Given the description of an element on the screen output the (x, y) to click on. 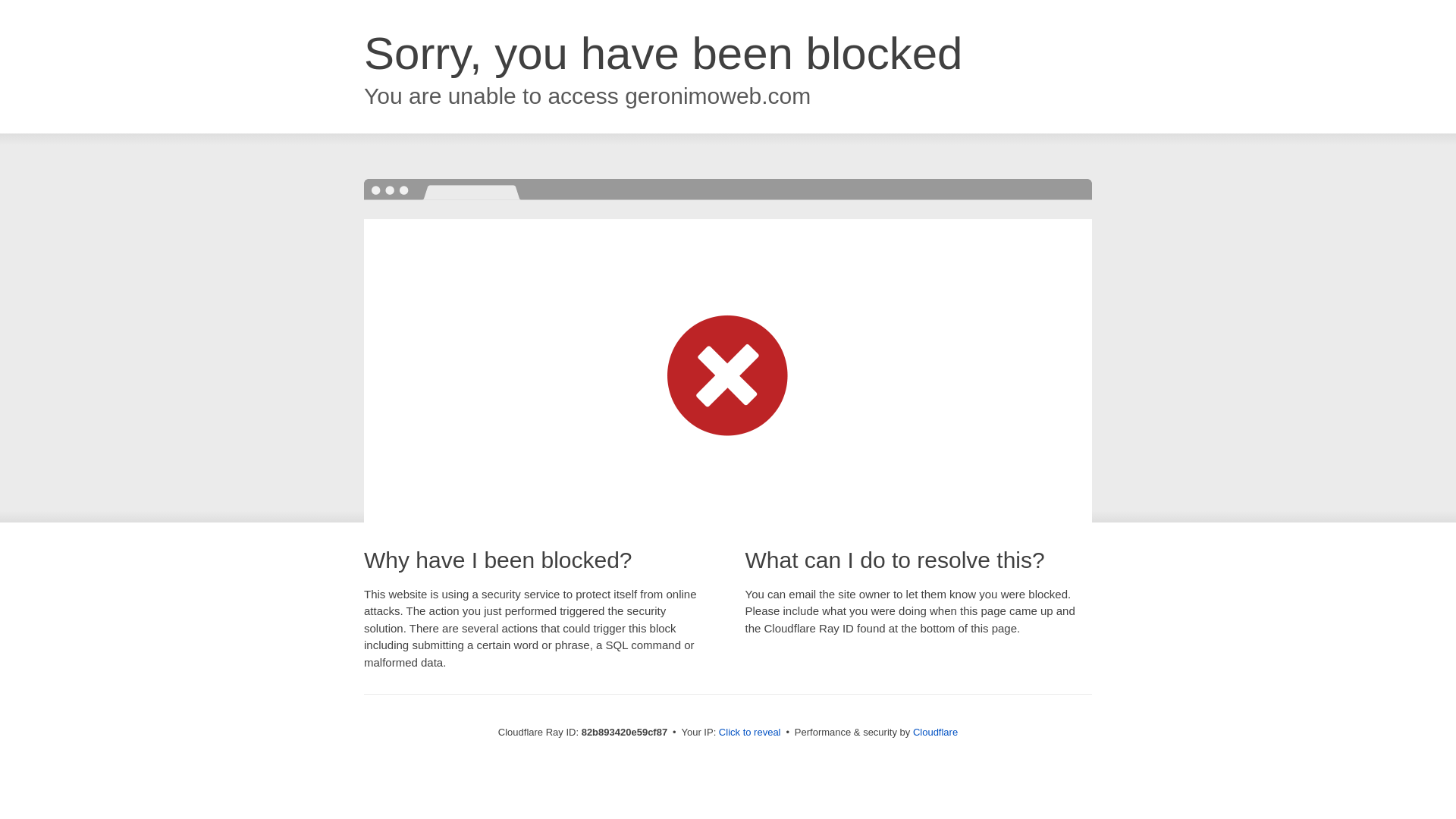
Cloudflare Element type: text (935, 731)
Click to reveal Element type: text (749, 732)
